Given the description of an element on the screen output the (x, y) to click on. 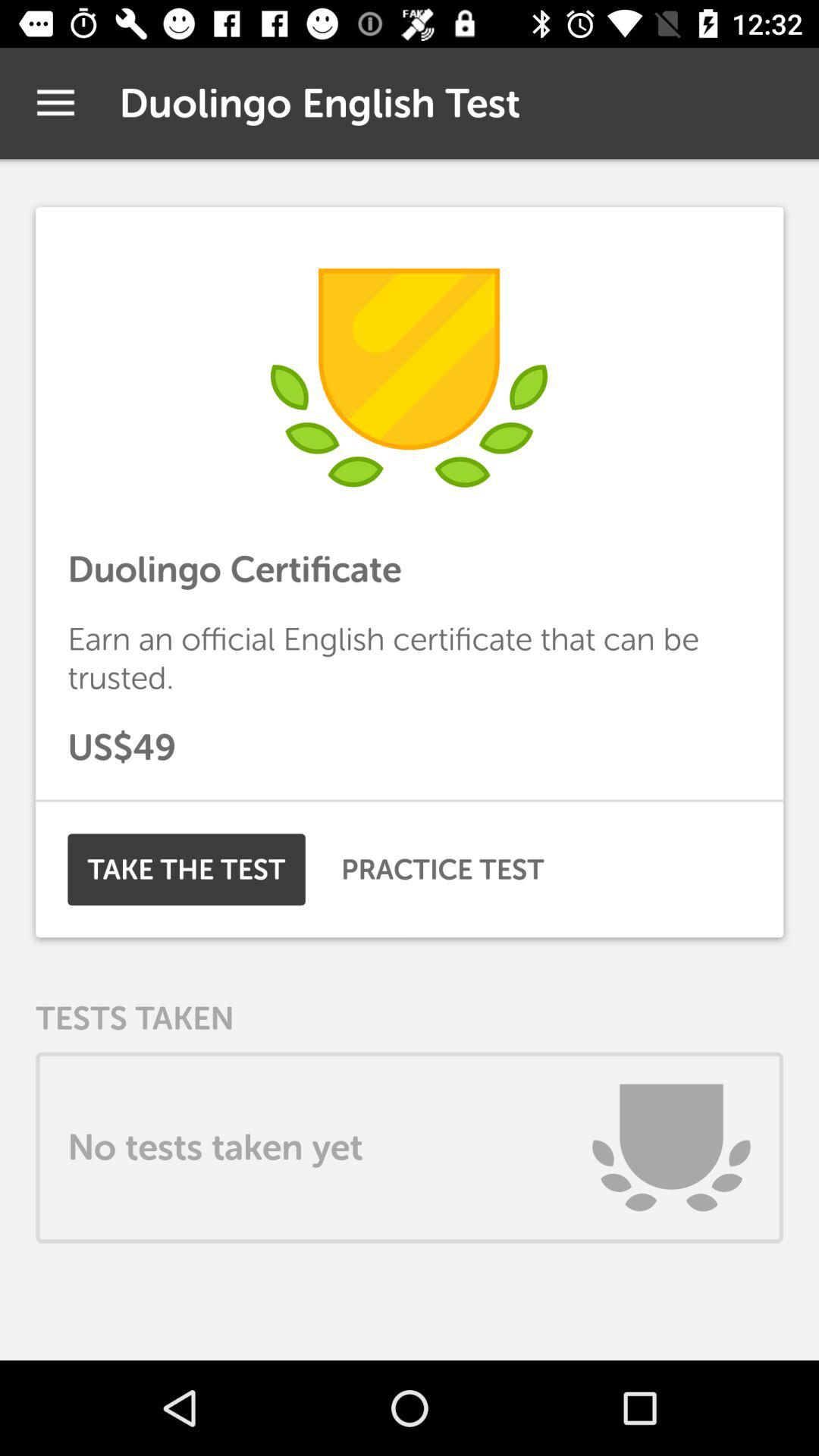
press the icon above us$49 item (409, 658)
